Given the description of an element on the screen output the (x, y) to click on. 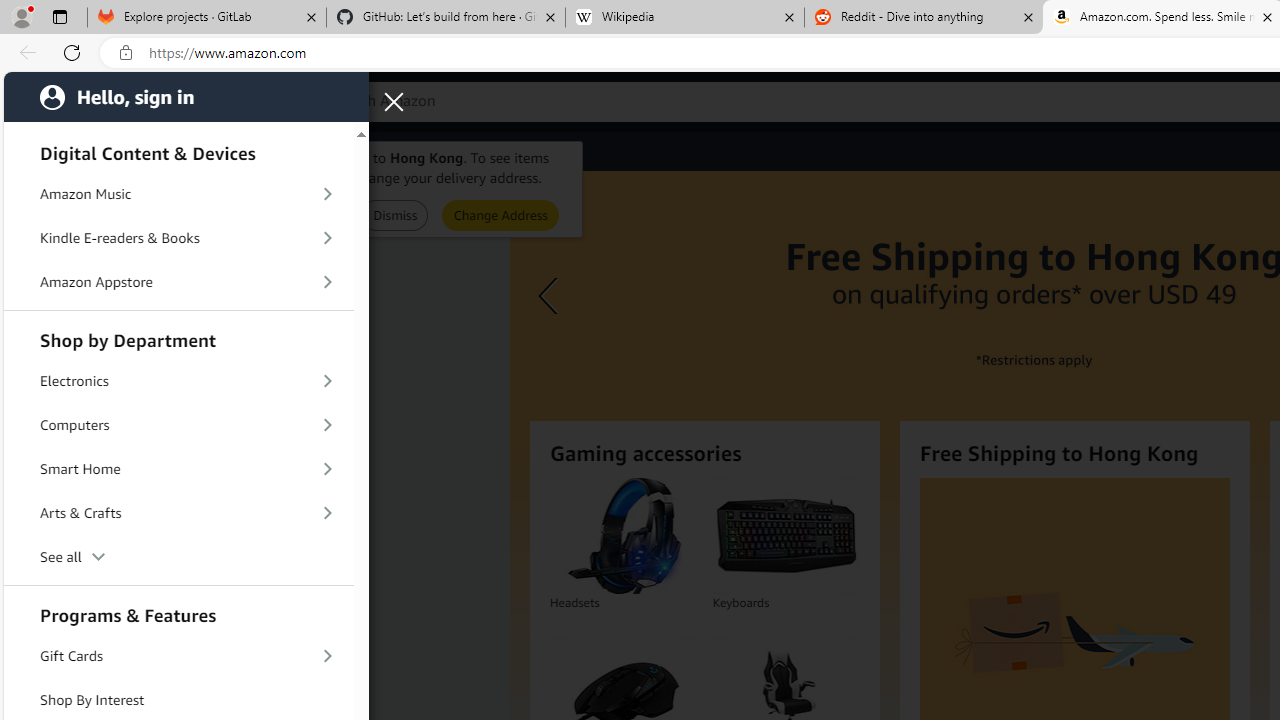
Hello, sign in (185, 96)
Computers (178, 424)
Arts & Crafts (178, 512)
Amazon Music (178, 194)
Computers (178, 425)
Amazon Appstore (178, 282)
Amazon Appstore (178, 281)
Smart Home (178, 468)
See all (178, 556)
Shop by Department (178, 338)
